Given the description of an element on the screen output the (x, y) to click on. 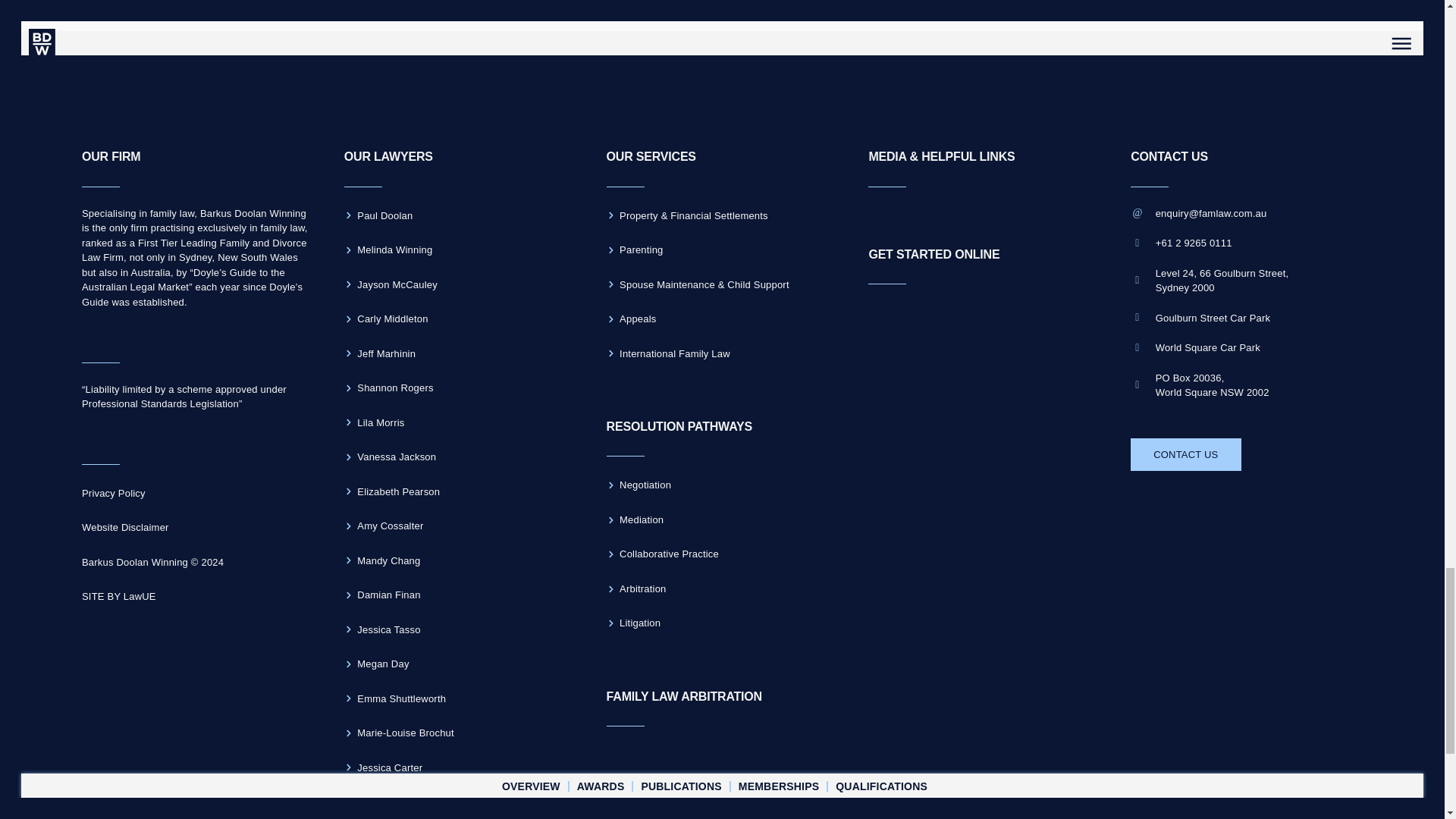
Lila Morris (459, 423)
Paul Doolan (459, 216)
Mandy Chang (459, 560)
SITE BY LawUE (197, 596)
Amy Cossalter (459, 526)
Vanessa Jackson (459, 456)
Website Disclaimer (197, 527)
Jeff Marhinin (459, 353)
Shannon Rogers (459, 388)
OUR LAWYERS (387, 155)
Privacy Policy (197, 493)
Melinda Winning (459, 250)
OUR FIRM (111, 155)
Elizabeth Pearson (459, 492)
Carly Middleton (459, 319)
